Given the description of an element on the screen output the (x, y) to click on. 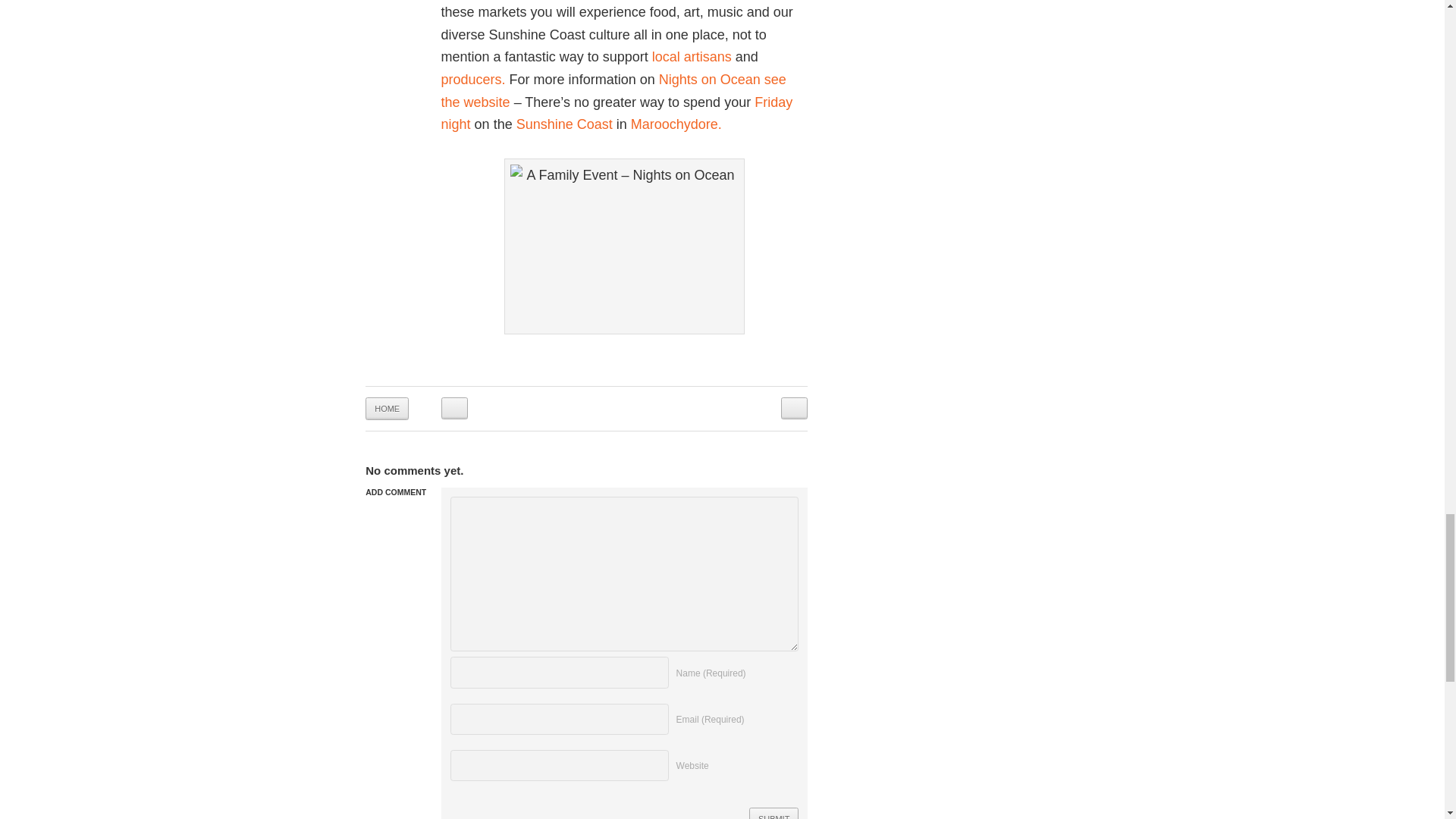
Submit (773, 813)
